Given the description of an element on the screen output the (x, y) to click on. 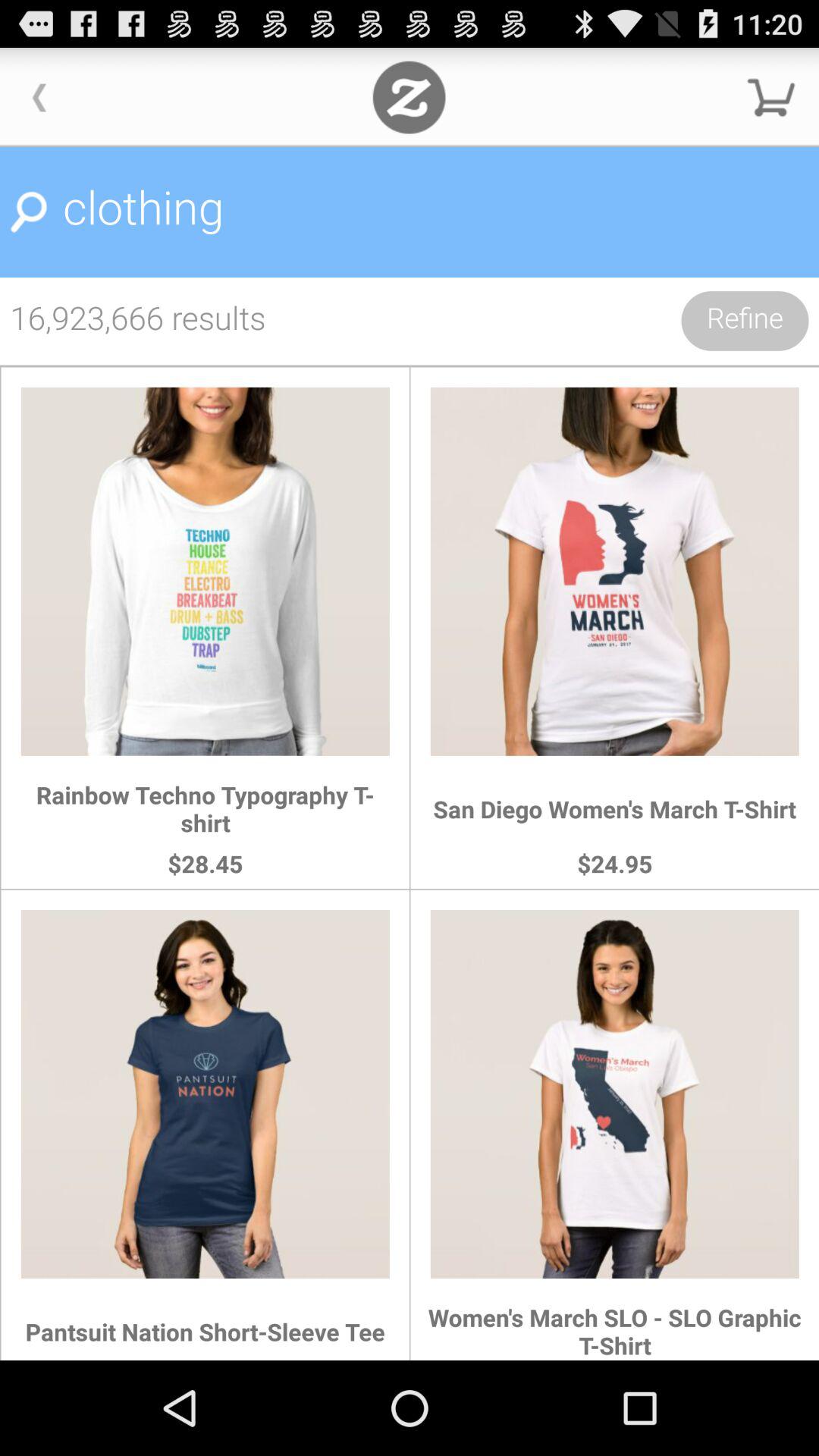
go back (39, 97)
